Given the description of an element on the screen output the (x, y) to click on. 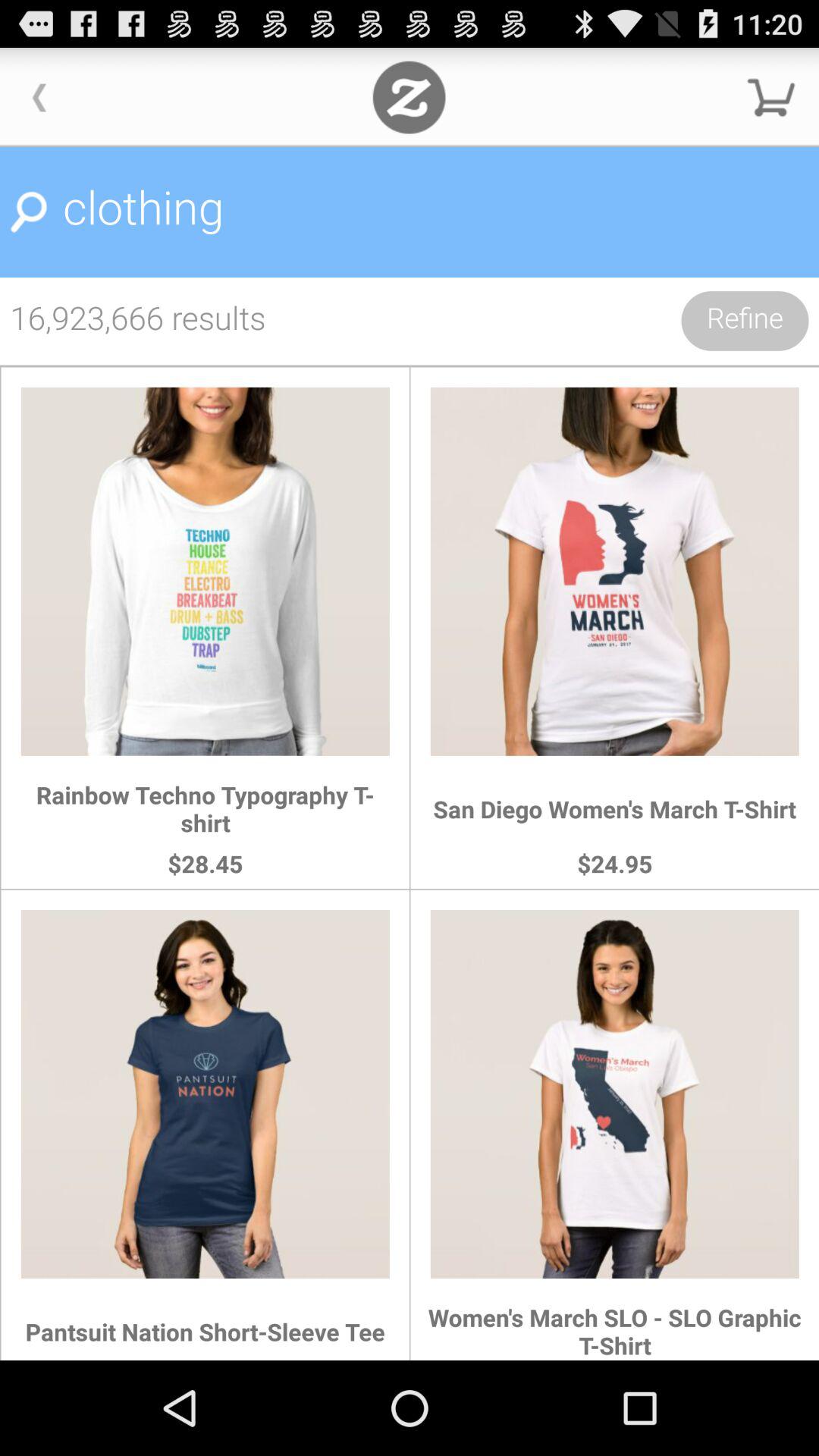
go back (39, 97)
